Given the description of an element on the screen output the (x, y) to click on. 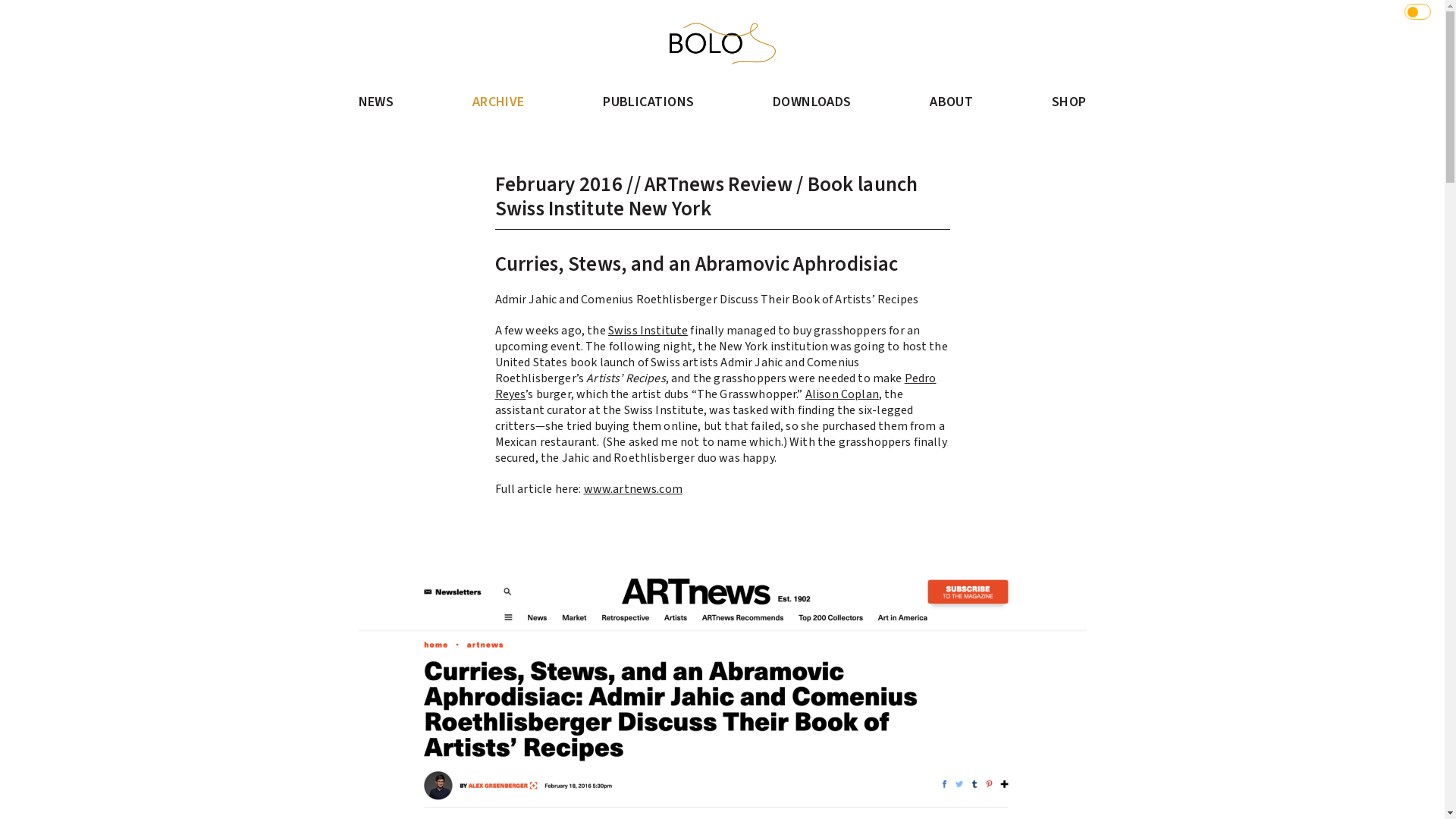
ABOUT Element type: text (950, 101)
Swiss Institute Element type: text (647, 330)
ARCHIVE Element type: text (498, 101)
Bolo Publishing Element type: hover (721, 43)
www.artnews.com Element type: text (632, 488)
SHOP Element type: text (1068, 101)
Alison Coplan Element type: text (841, 393)
NEWS Element type: text (375, 101)
PUBLICATIONS Element type: text (647, 101)
Pedro Reyes Element type: text (714, 386)
DOWNLOADS Element type: text (811, 101)
